Given the description of an element on the screen output the (x, y) to click on. 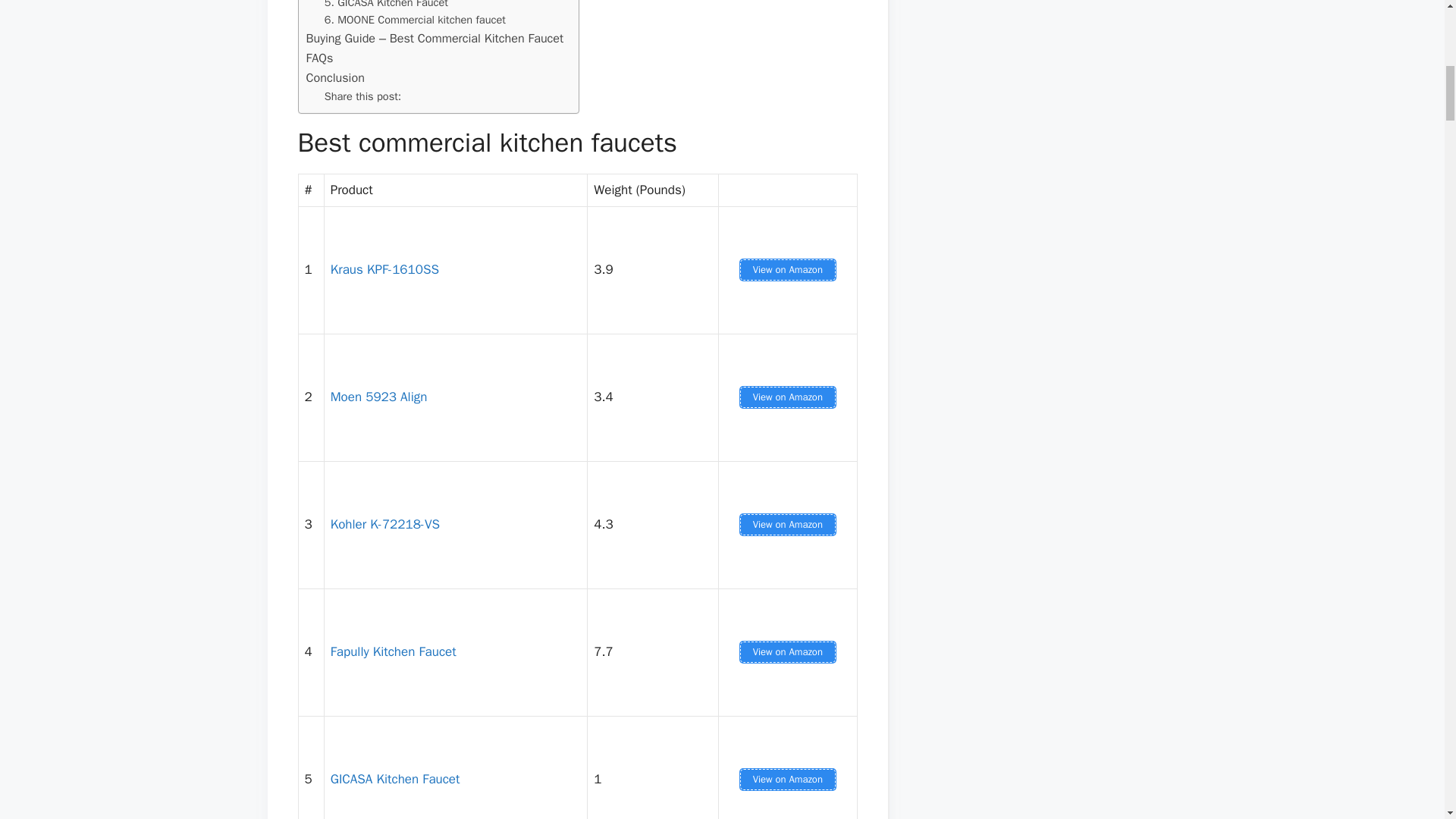
Moen 5923 Align (379, 396)
6. MOONE Commercial kitchen faucet (414, 19)
5. GICASA Kitchen Faucet (386, 5)
Kohler K-72218-VS (384, 524)
View on Amazon (787, 269)
View on Amazon (787, 651)
6. MOONE Commercial kitchen faucet (414, 19)
Share this post: (362, 96)
Fapully Kitchen Faucet (393, 651)
View on Amazon (787, 779)
